Given the description of an element on the screen output the (x, y) to click on. 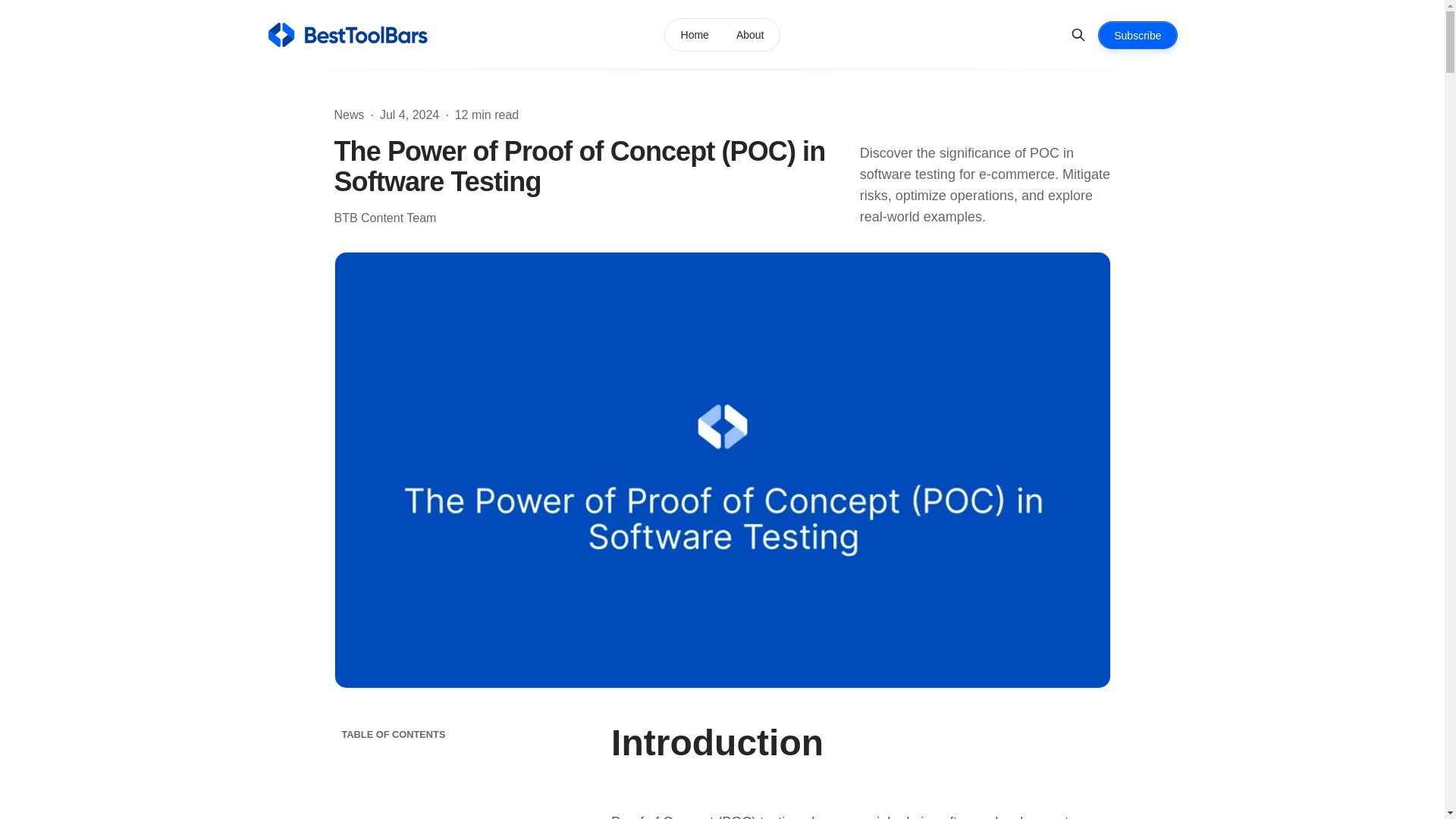
News (348, 115)
Search (1078, 34)
Subscribe (1136, 35)
Home (694, 34)
TABLE OF CONTENTS (454, 733)
BTB Content Team (384, 218)
About (749, 34)
